Given the description of an element on the screen output the (x, y) to click on. 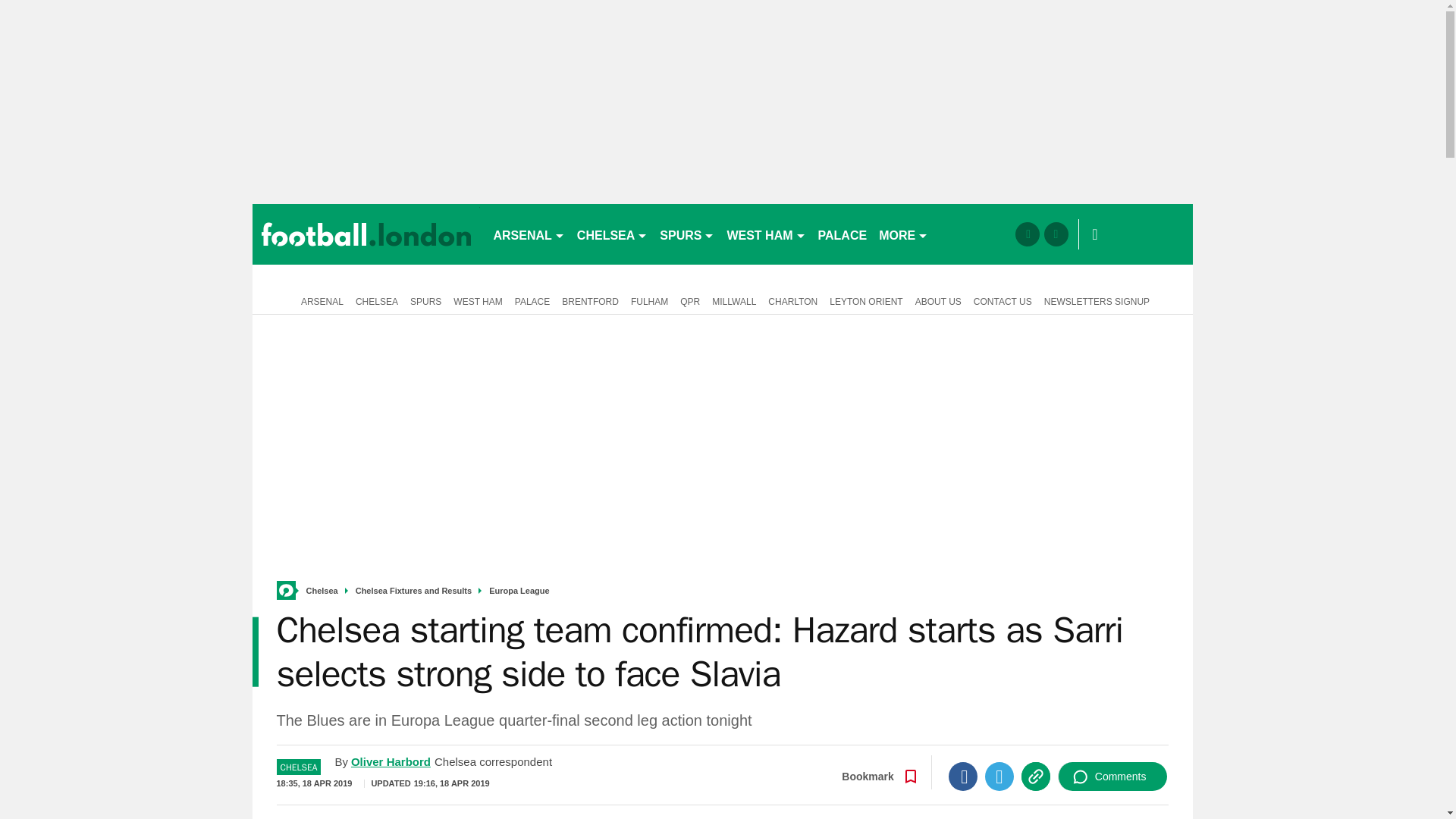
twitter (1055, 233)
facebook (1026, 233)
footballlondon (365, 233)
Facebook (962, 776)
PALACE (842, 233)
MORE (903, 233)
CHELSEA (611, 233)
Comments (1112, 776)
SPURS (686, 233)
ARSENAL (528, 233)
